Given the description of an element on the screen output the (x, y) to click on. 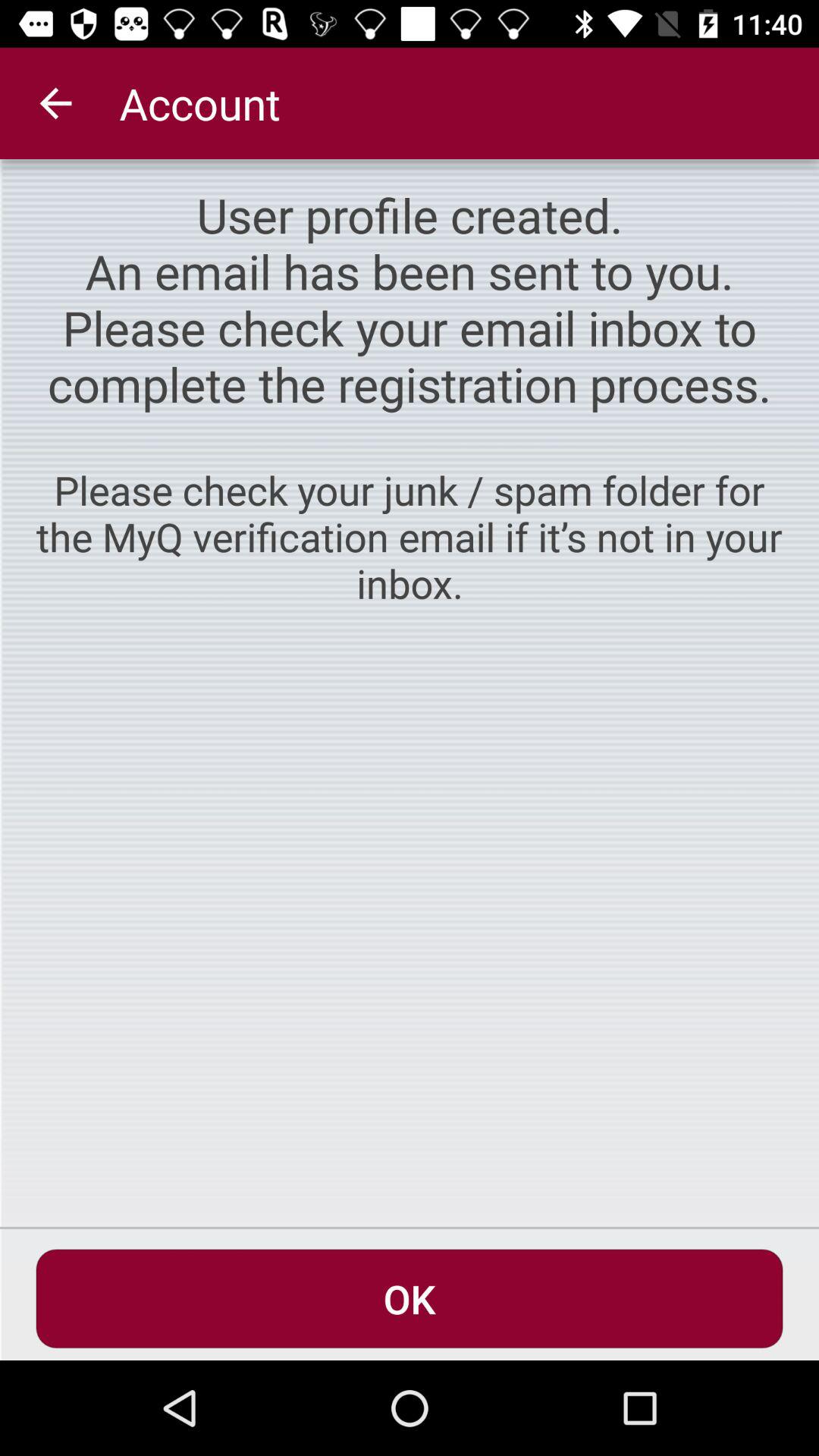
turn on the ok item (409, 1298)
